Given the description of an element on the screen output the (x, y) to click on. 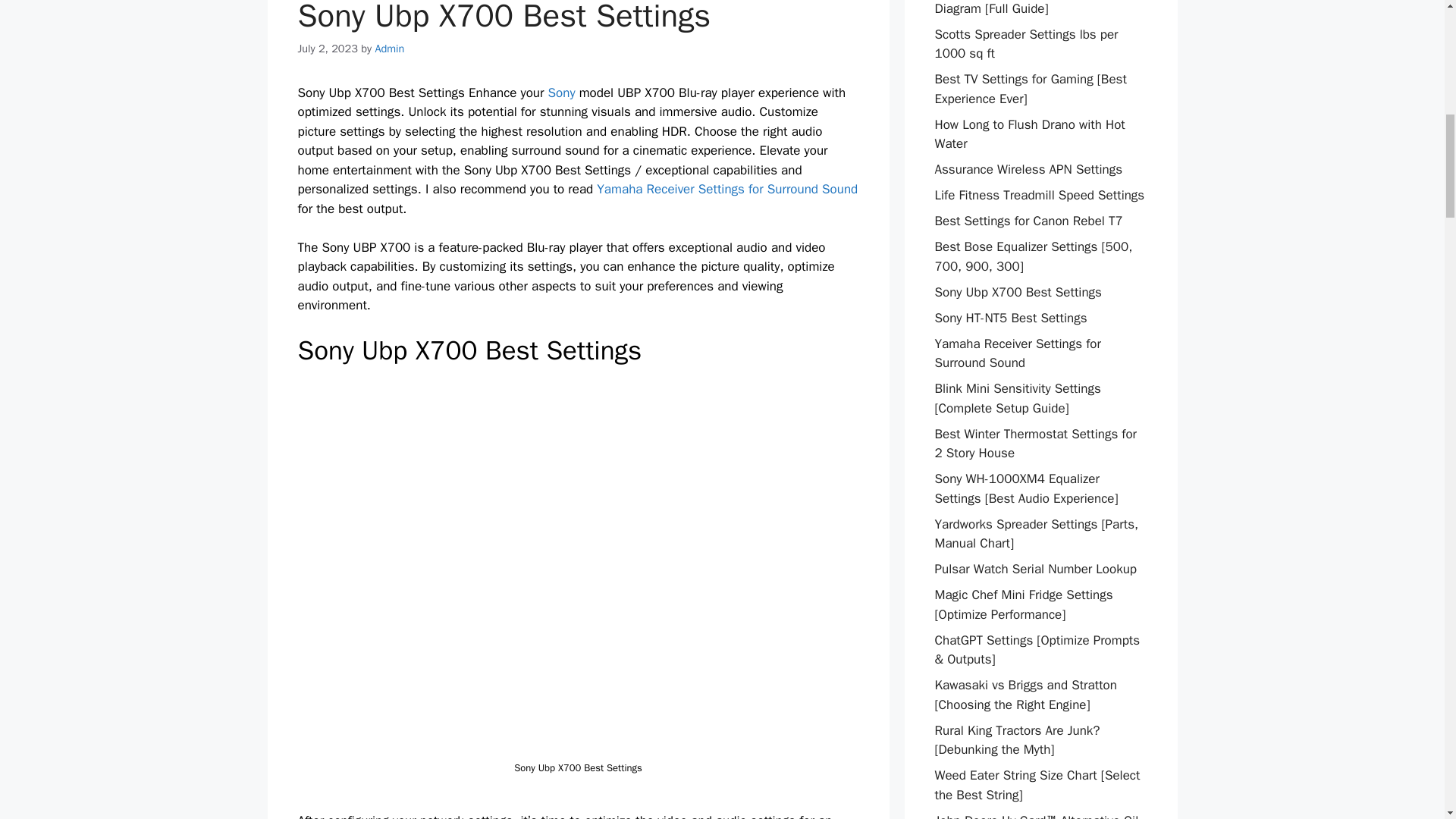
Life Fitness Treadmill Speed Settings (1039, 195)
How Long to Flush Drano with Hot Water (1029, 134)
Yamaha Receiver Settings for Surround Sound (726, 188)
Sony (561, 92)
View all posts by Admin (389, 48)
Scotts Spreader Settings lbs per 1000 sq ft (1026, 44)
Assurance Wireless APN Settings (1028, 169)
Admin (389, 48)
Best Settings for Canon Rebel T7 (1028, 220)
